Given the description of an element on the screen output the (x, y) to click on. 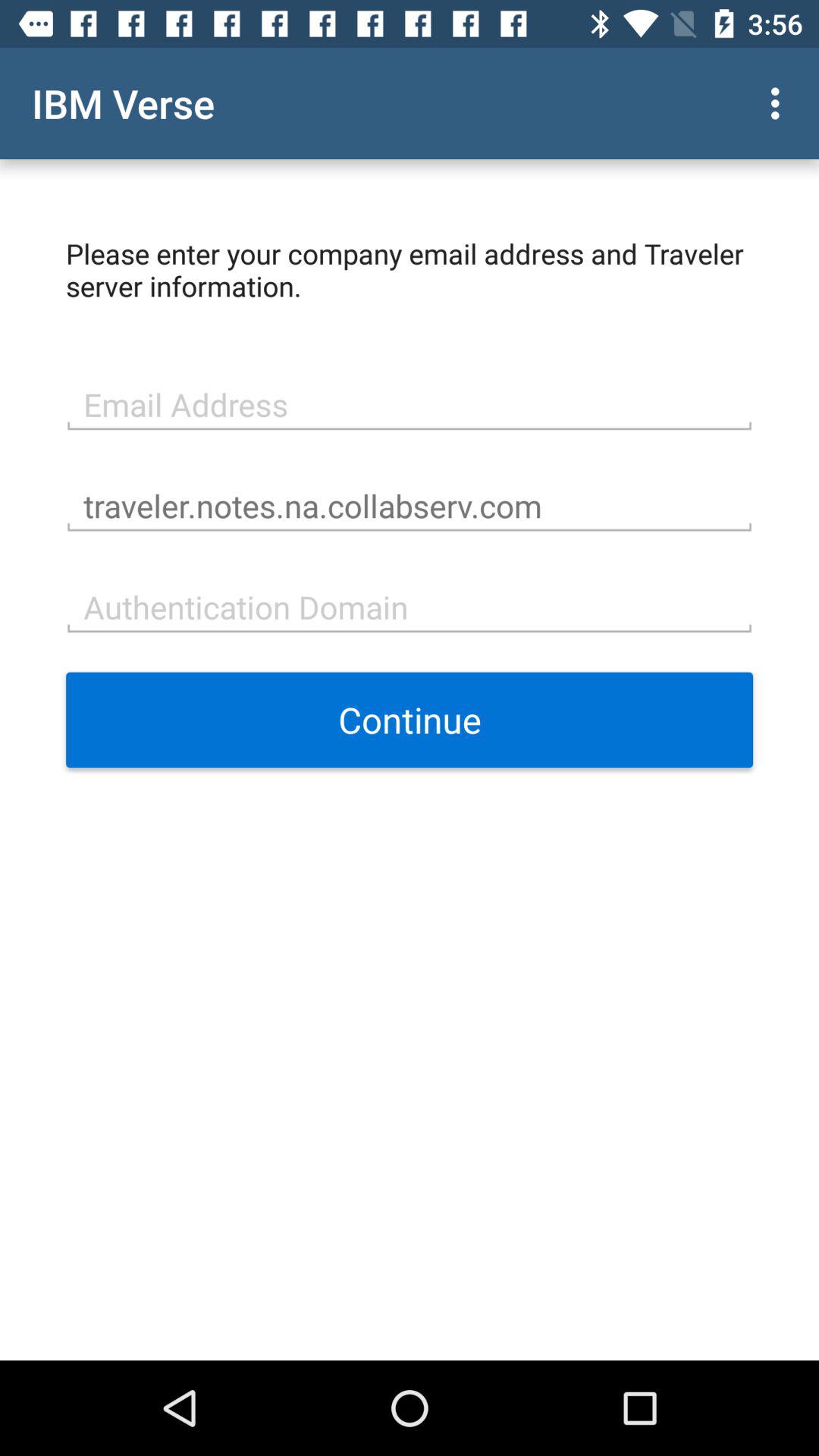
flip until continue icon (409, 719)
